Given the description of an element on the screen output the (x, y) to click on. 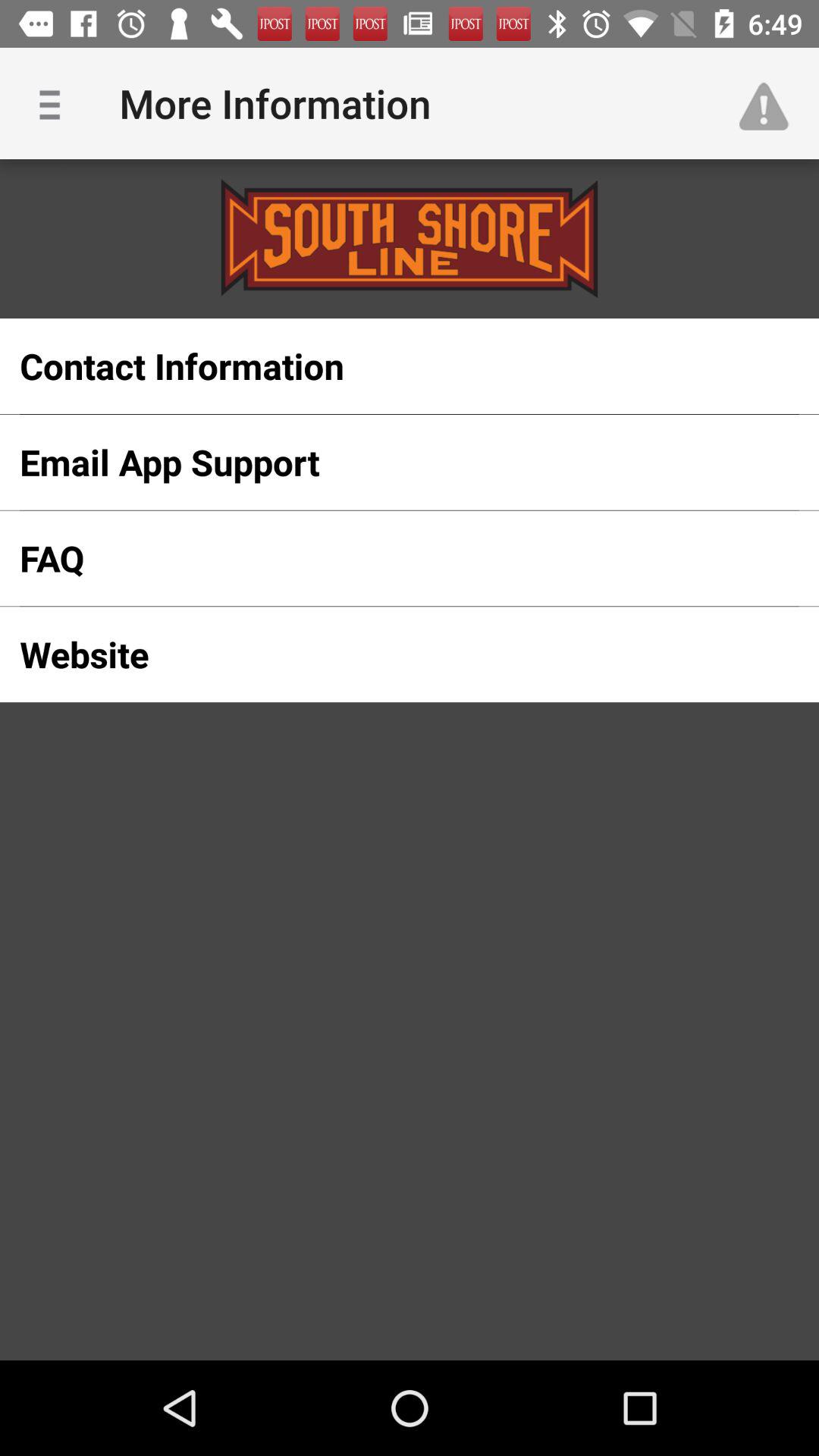
turn off the icon next to the more information (55, 103)
